Given the description of an element on the screen output the (x, y) to click on. 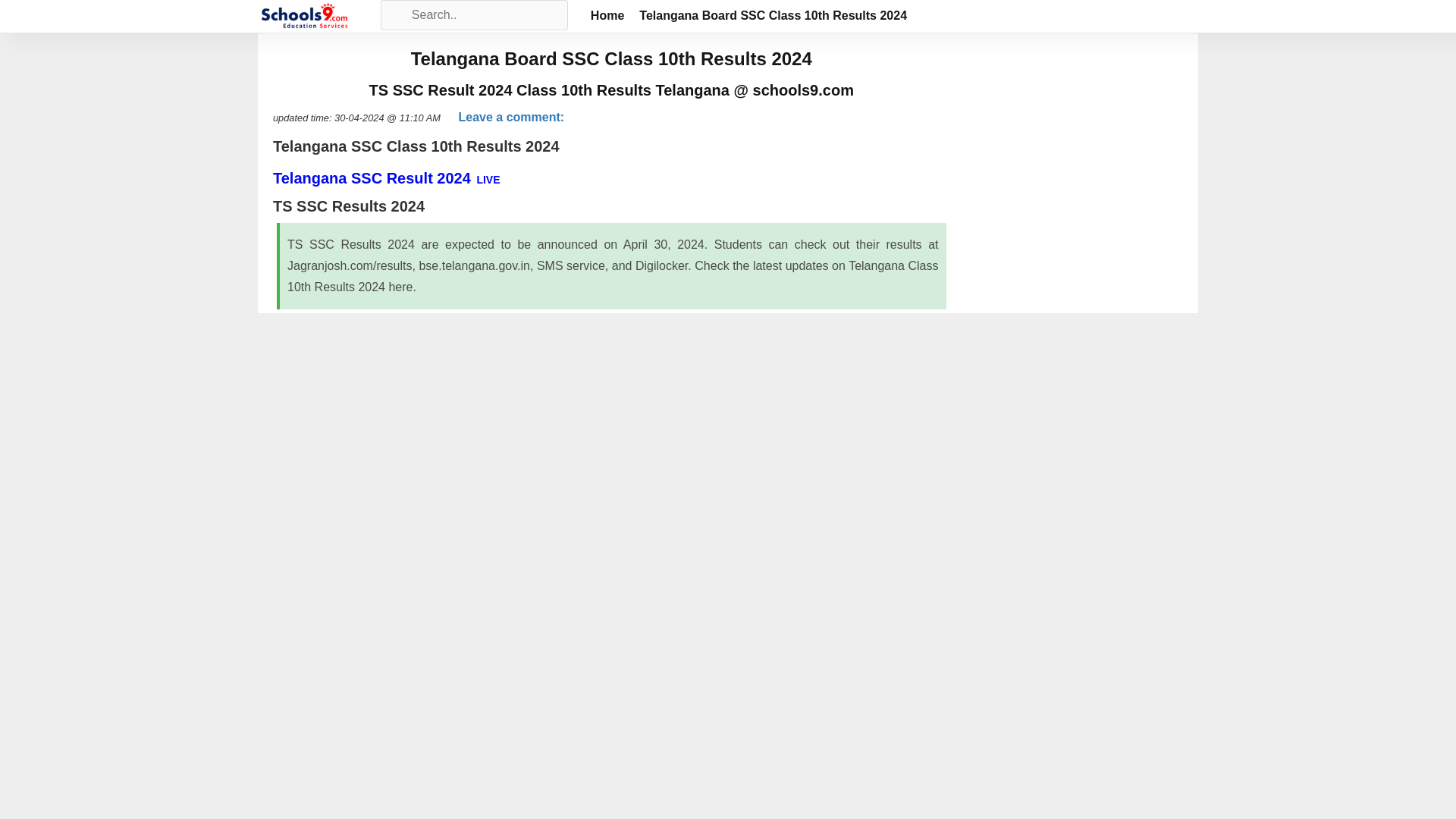
Telangana SSC Result 2024 LIVE (386, 177)
Telangana Board SSC Class 10th Results 2024 (304, 15)
Home (607, 15)
Leave a comment: (511, 116)
Telangana Board SSC Class 10th Results 2024 (773, 15)
